Given the description of an element on the screen output the (x, y) to click on. 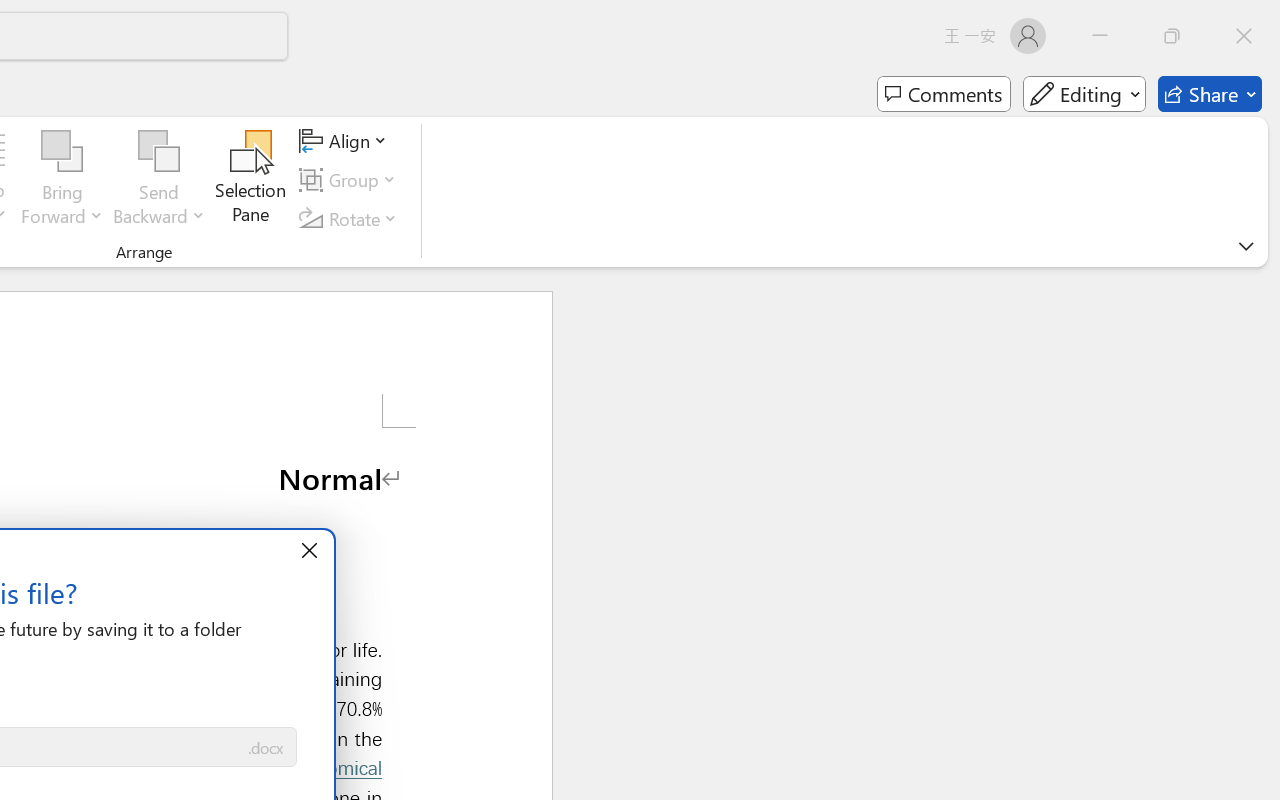
Selection Pane... (251, 179)
Bring Forward (62, 151)
Align (346, 141)
Save as type (265, 747)
Bring Forward (62, 179)
